Given the description of an element on the screen output the (x, y) to click on. 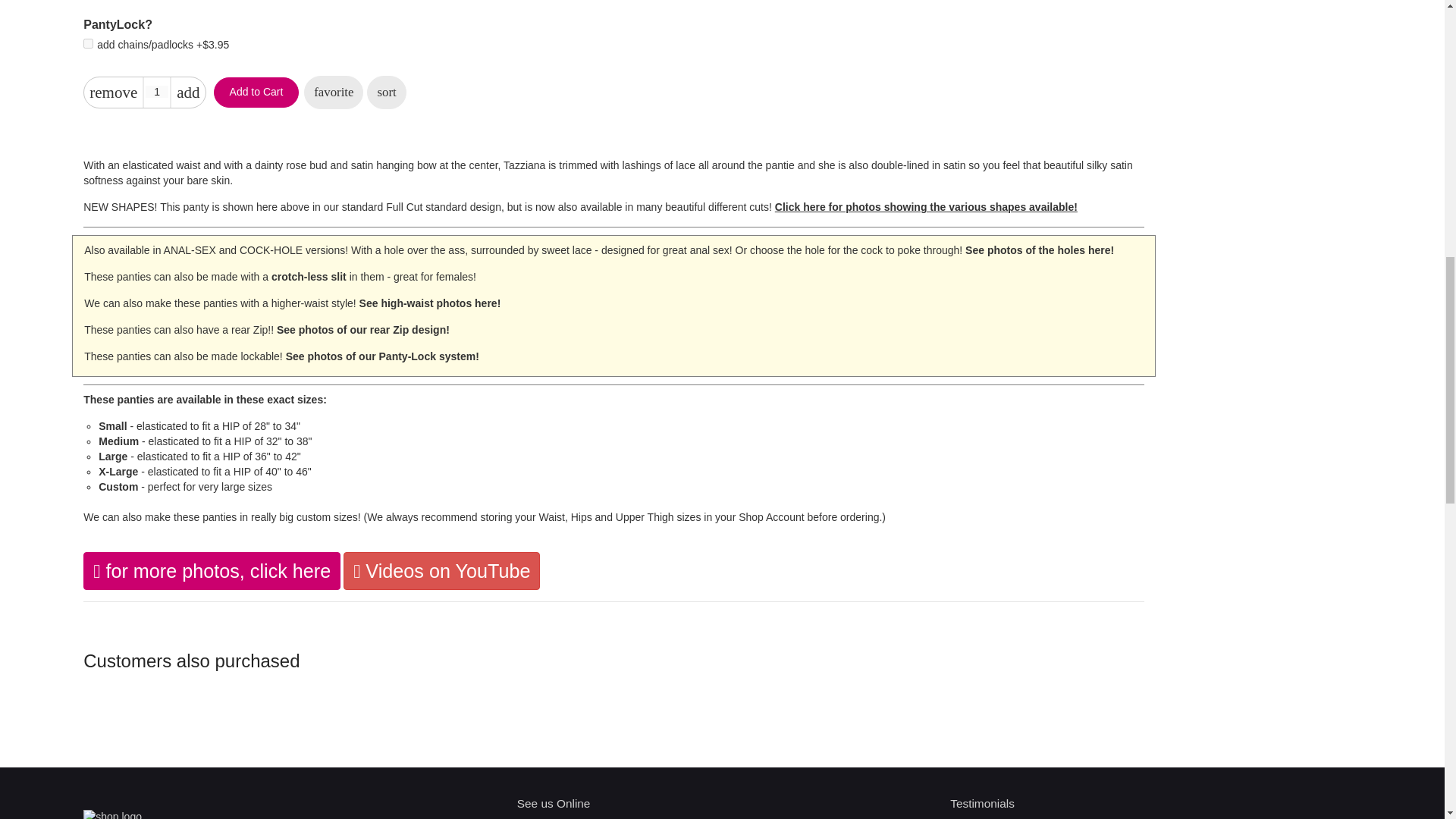
1 (156, 91)
Add to Compare (386, 92)
266 (87, 43)
Add to Wishlist (333, 92)
